Given the description of an element on the screen output the (x, y) to click on. 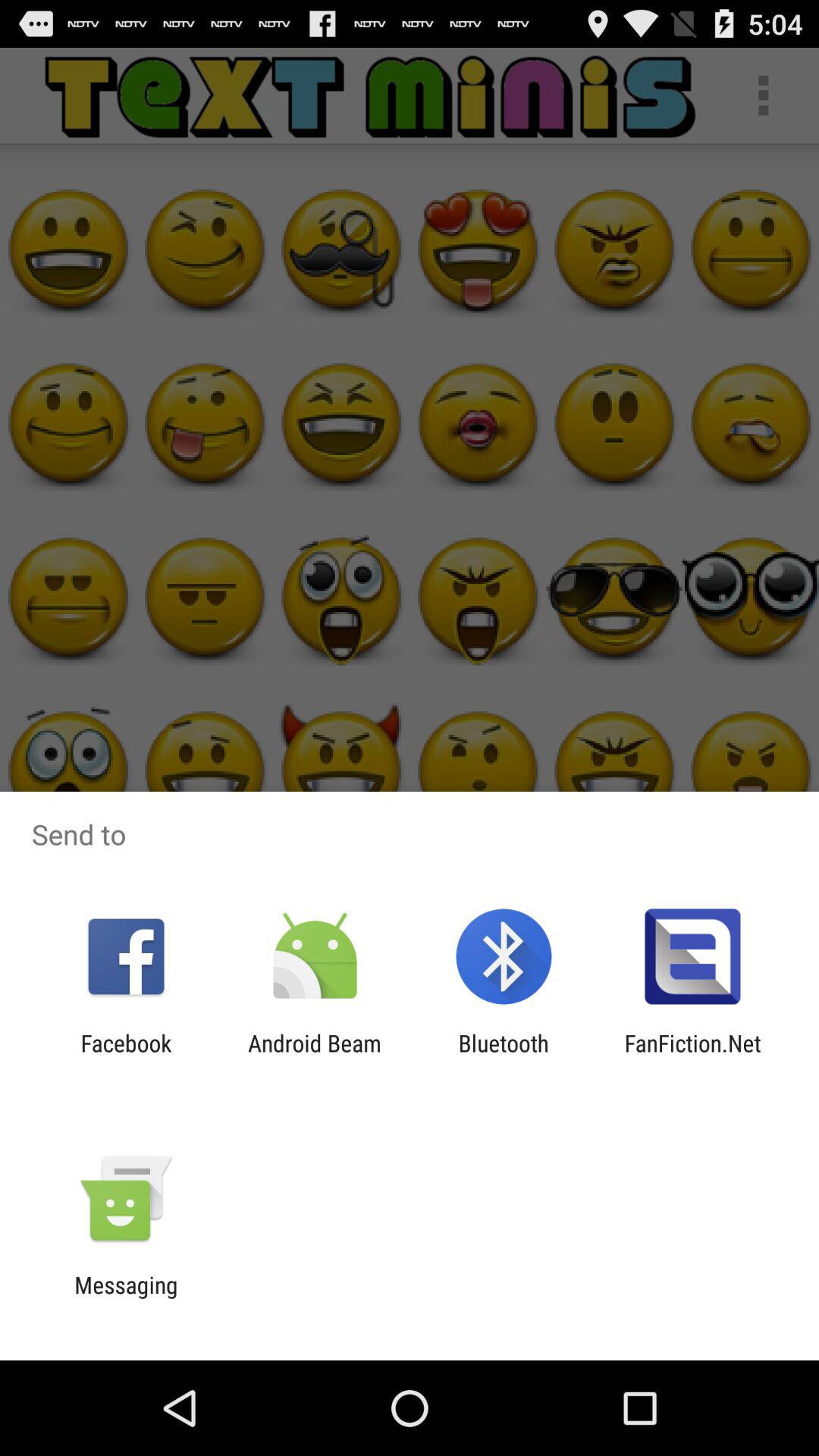
jump to the bluetooth item (503, 1056)
